Given the description of an element on the screen output the (x, y) to click on. 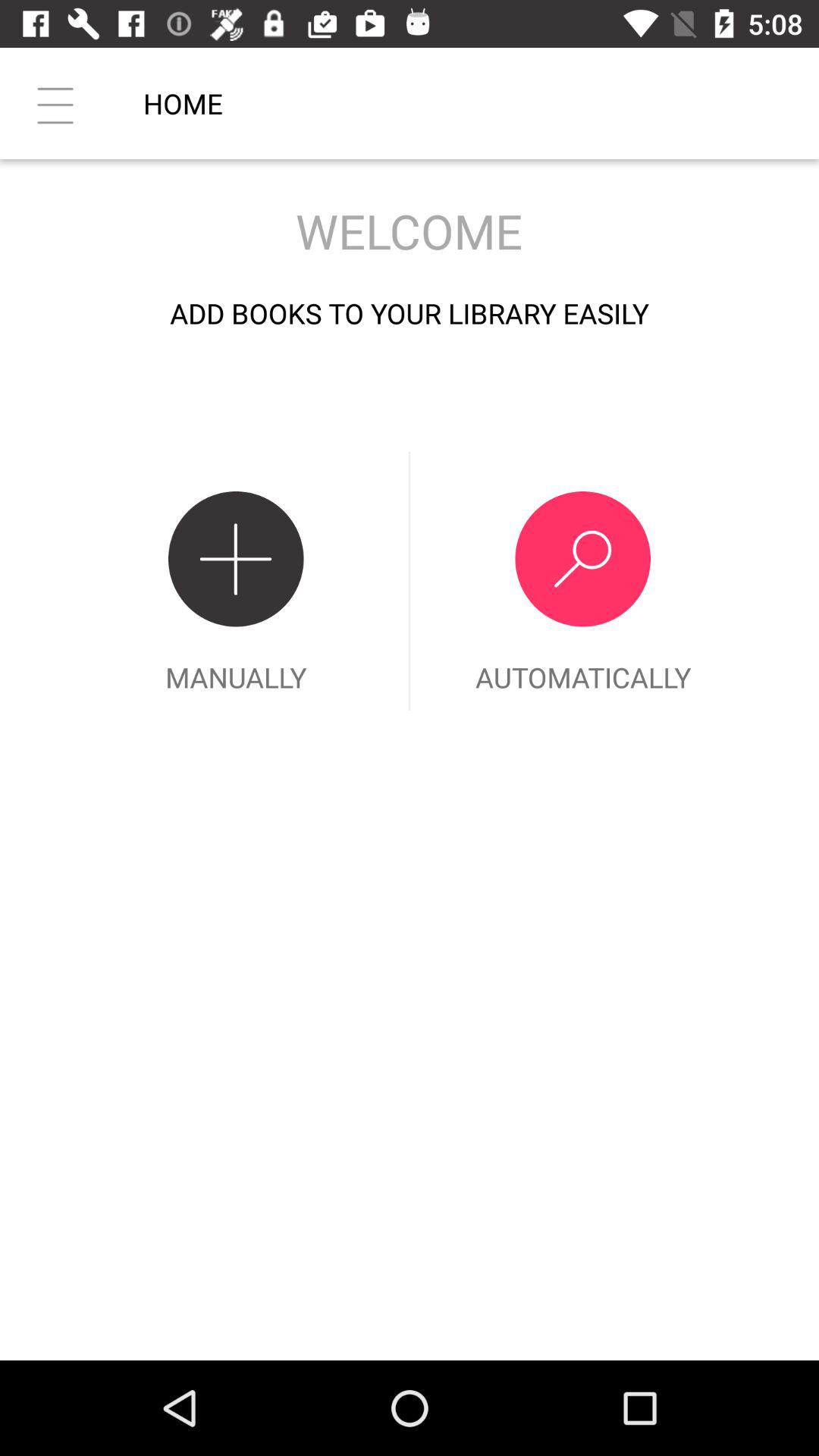
tap item below add books to item (235, 580)
